Given the description of an element on the screen output the (x, y) to click on. 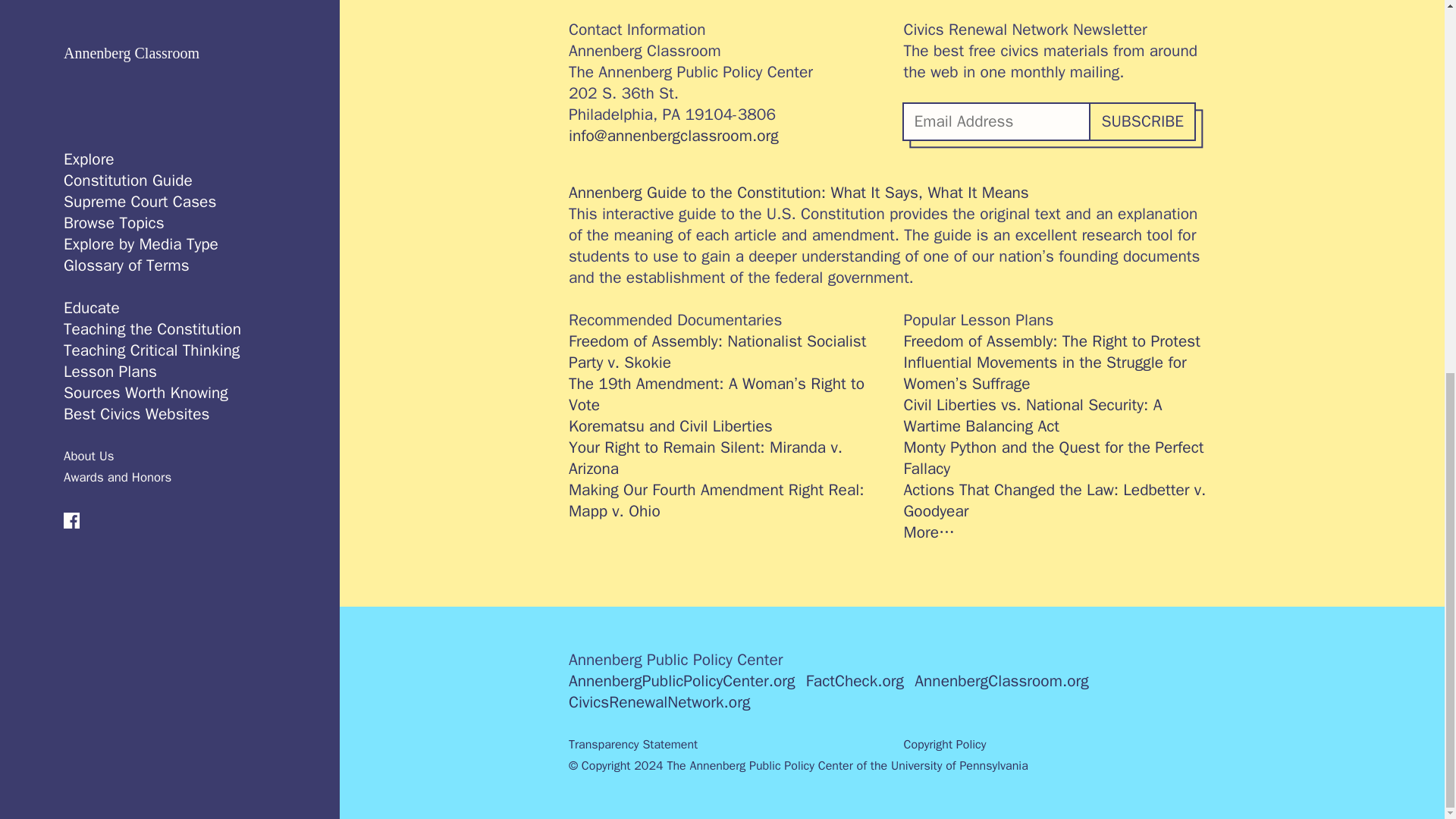
Subscribe (1141, 121)
Subscribe (1141, 121)
AnnenbergPublicPolicyCenter.org (681, 680)
Freedom of Assembly: Nationalist Socialist Party v. Skokie (724, 351)
Actions That Changed the Law: Ledbetter v. Goodyear (1059, 500)
Your Right to Remain Silent: Miranda v. Arizona (724, 457)
Freedom of Assembly: Nationalist Socialist Party v. Skokie (724, 351)
Korematsu and Civil Liberties (724, 425)
The 19th Amendment: A Woman's Right to Vote (724, 394)
Monty Python and the Quest for the Perfect Fallacy (1059, 457)
Making Our Fourth Amendment Right Real: Mapp v. Ohio (724, 500)
Korematsu and Civil Liberties (724, 425)
Freedom of Assembly: The Right to Protest (1059, 341)
